Given the description of an element on the screen output the (x, y) to click on. 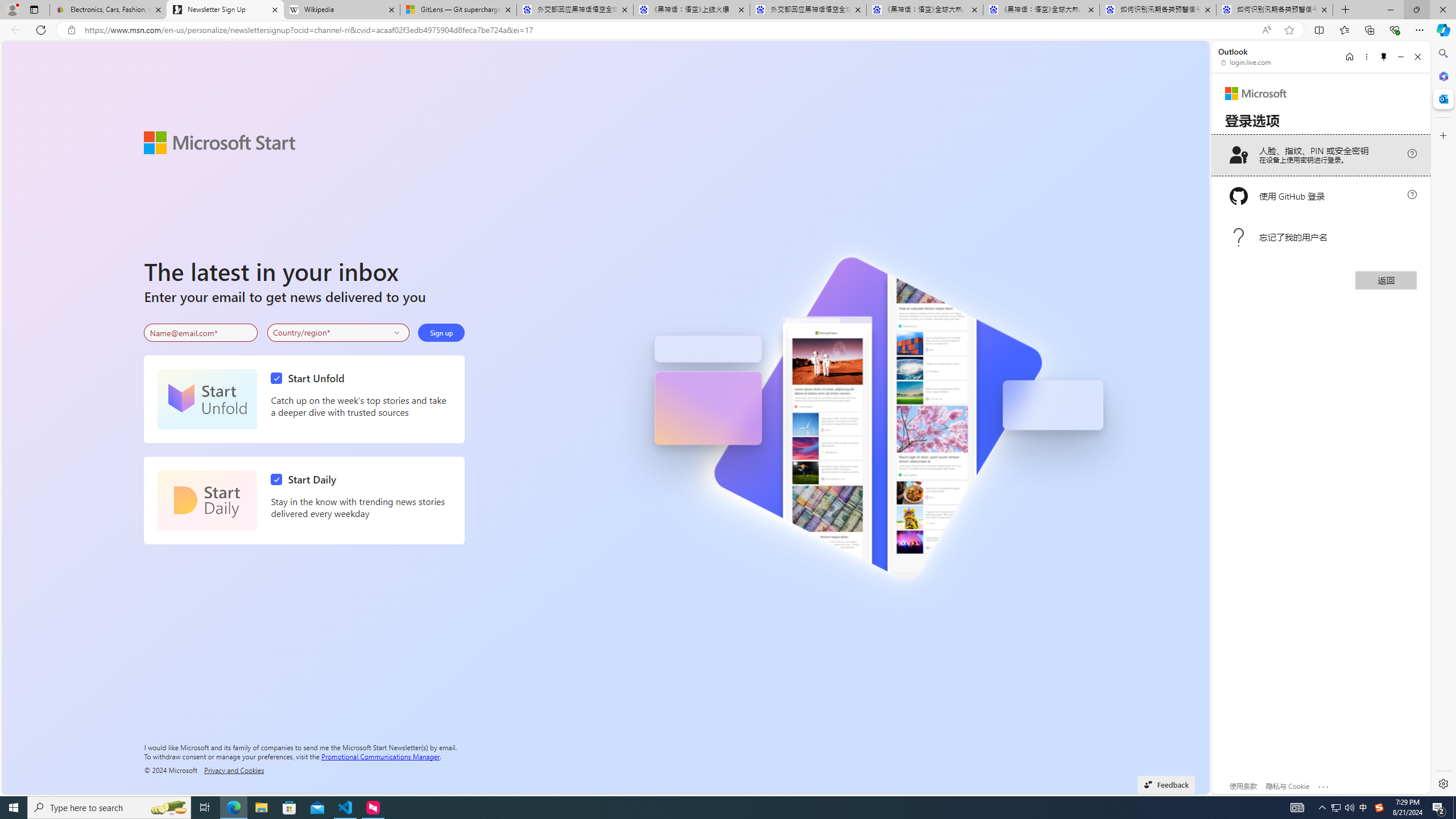
Newsletter Sign Up (224, 9)
